Given the description of an element on the screen output the (x, y) to click on. 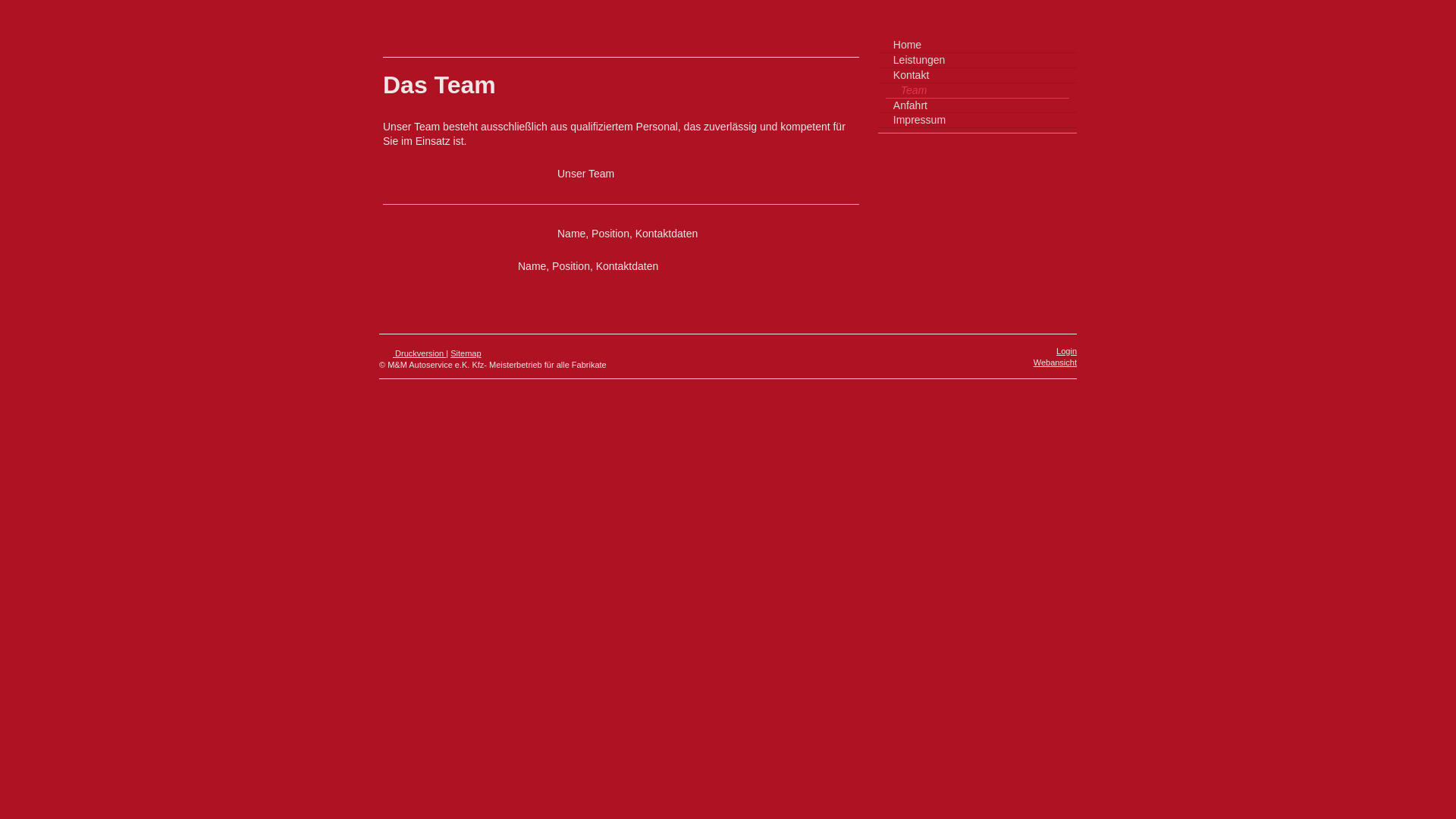
Team Element type: text (977, 90)
Anfahrt Element type: text (977, 105)
Home Element type: text (977, 45)
Sitemap Element type: text (465, 352)
Login Element type: text (1066, 350)
Impressum Element type: text (977, 120)
Druckversion Element type: text (412, 352)
Kontakt Element type: text (977, 75)
Webansicht Element type: text (1054, 362)
Leistungen Element type: text (977, 60)
